Given the description of an element on the screen output the (x, y) to click on. 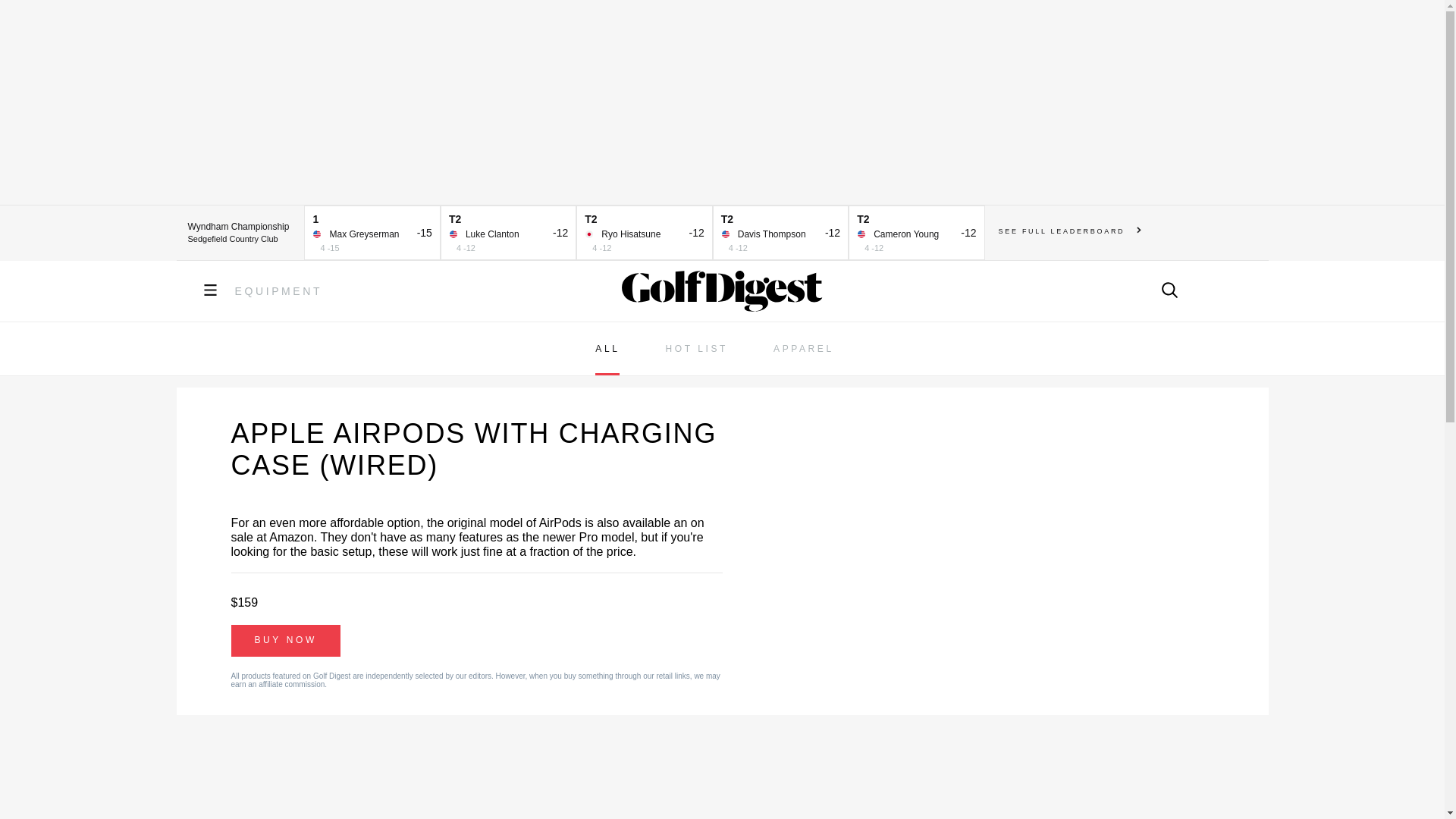
EQUIPMENT (278, 291)
HOT LIST (696, 348)
SEE FULL LEADERBOARD (1069, 230)
APPAREL (803, 348)
